Given the description of an element on the screen output the (x, y) to click on. 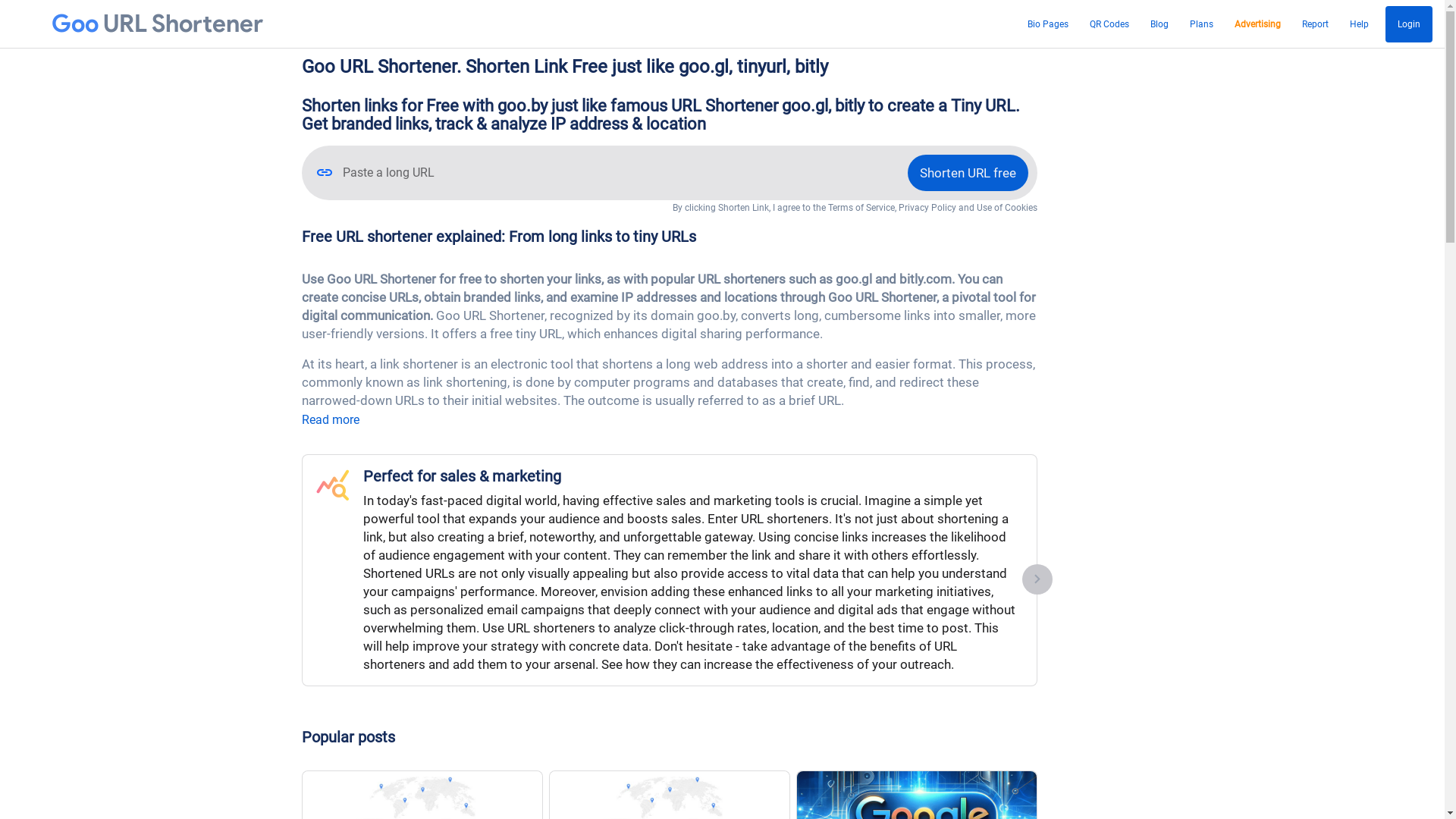
Blog Element type: text (1159, 24)
Bio Pages Element type: text (1047, 24)
Report Element type: text (1315, 24)
Plans Element type: text (1201, 24)
Login Element type: text (1408, 24)
Shorten URL free Element type: text (966, 172)
QR Codes Element type: text (1109, 24)
Read more Element type: text (330, 419)
Help Element type: text (1359, 24)
Advertising Element type: text (1257, 24)
